Given the description of an element on the screen output the (x, y) to click on. 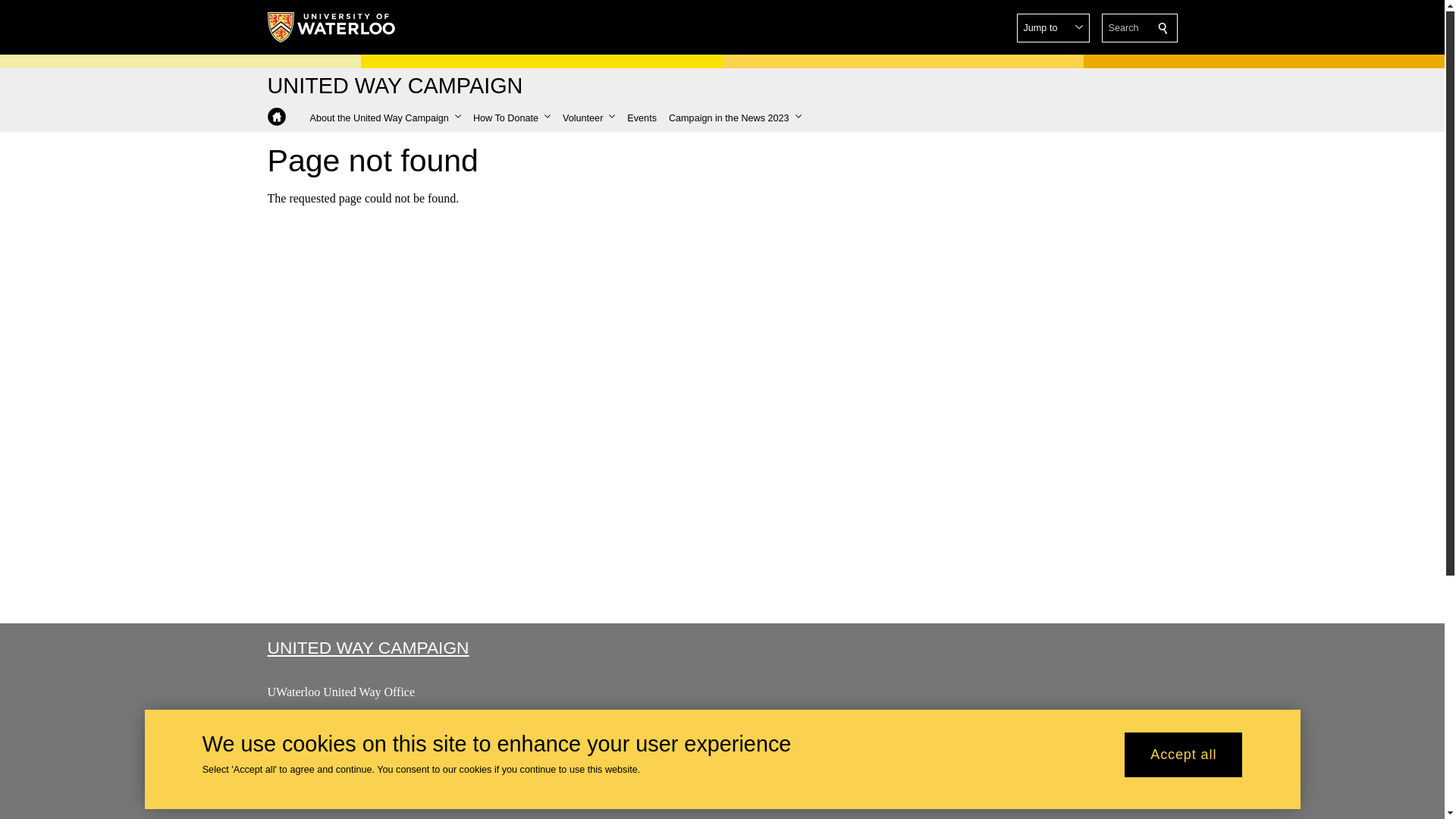
United Way Campaign Home (275, 116)
Volunteer (588, 117)
UNITED WAY CAMPAIGN (394, 85)
University of Waterloo Home (331, 27)
About the United Way Campaign (383, 117)
Search (1163, 27)
Email us (287, 784)
UNITED WAY CAMPAIGN (367, 647)
Jump to (1053, 27)
Events (641, 117)
Campaign in the News 2023 (735, 117)
Search (1163, 27)
United Way Campaign Home (275, 116)
United Way Campaign Home (394, 85)
